Given the description of an element on the screen output the (x, y) to click on. 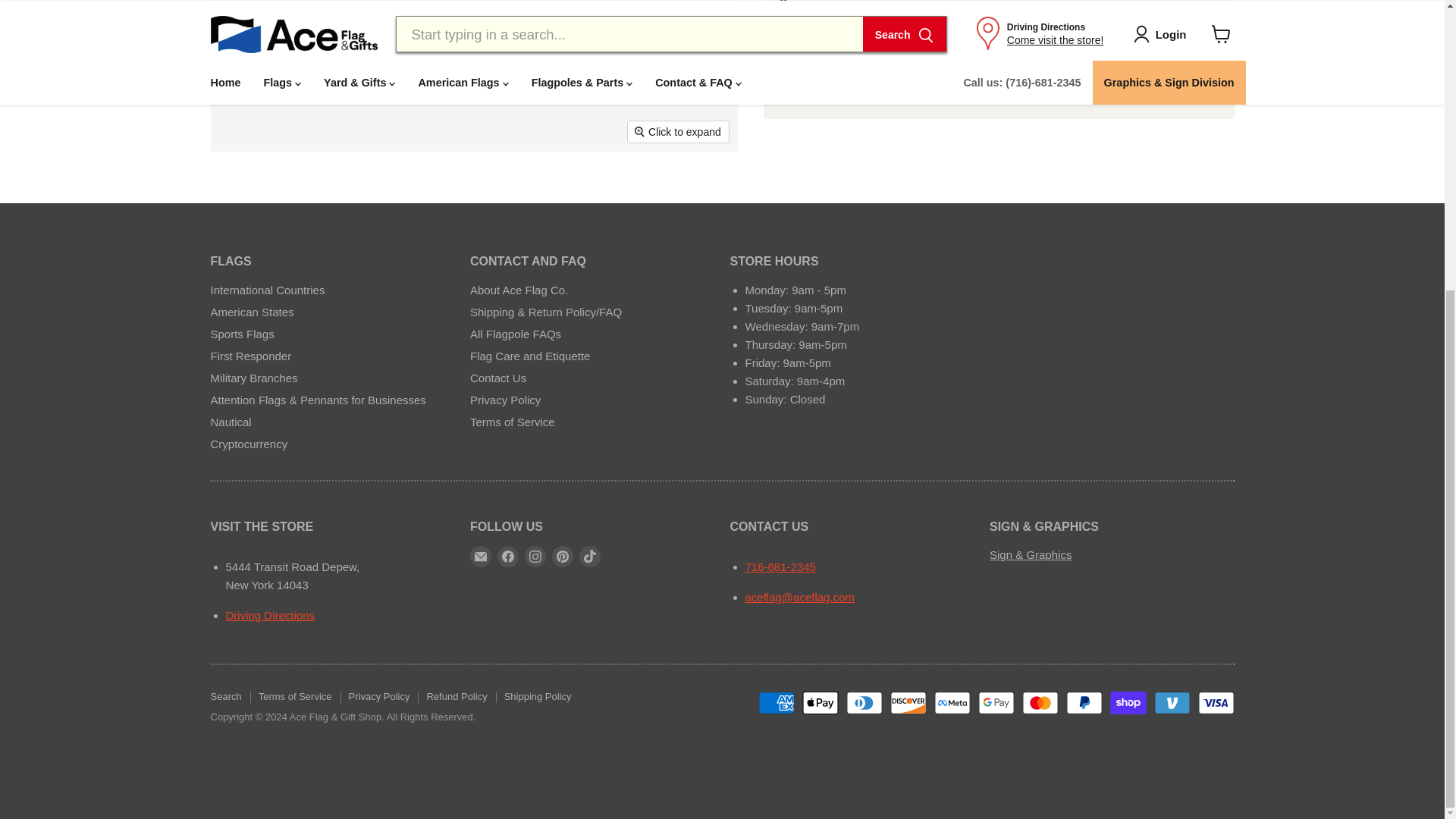
American Express (776, 702)
Pinterest (562, 556)
Instagram (535, 556)
TikTok (589, 556)
Facebook (507, 556)
Email (481, 556)
Apple Pay (820, 702)
